Given the description of an element on the screen output the (x, y) to click on. 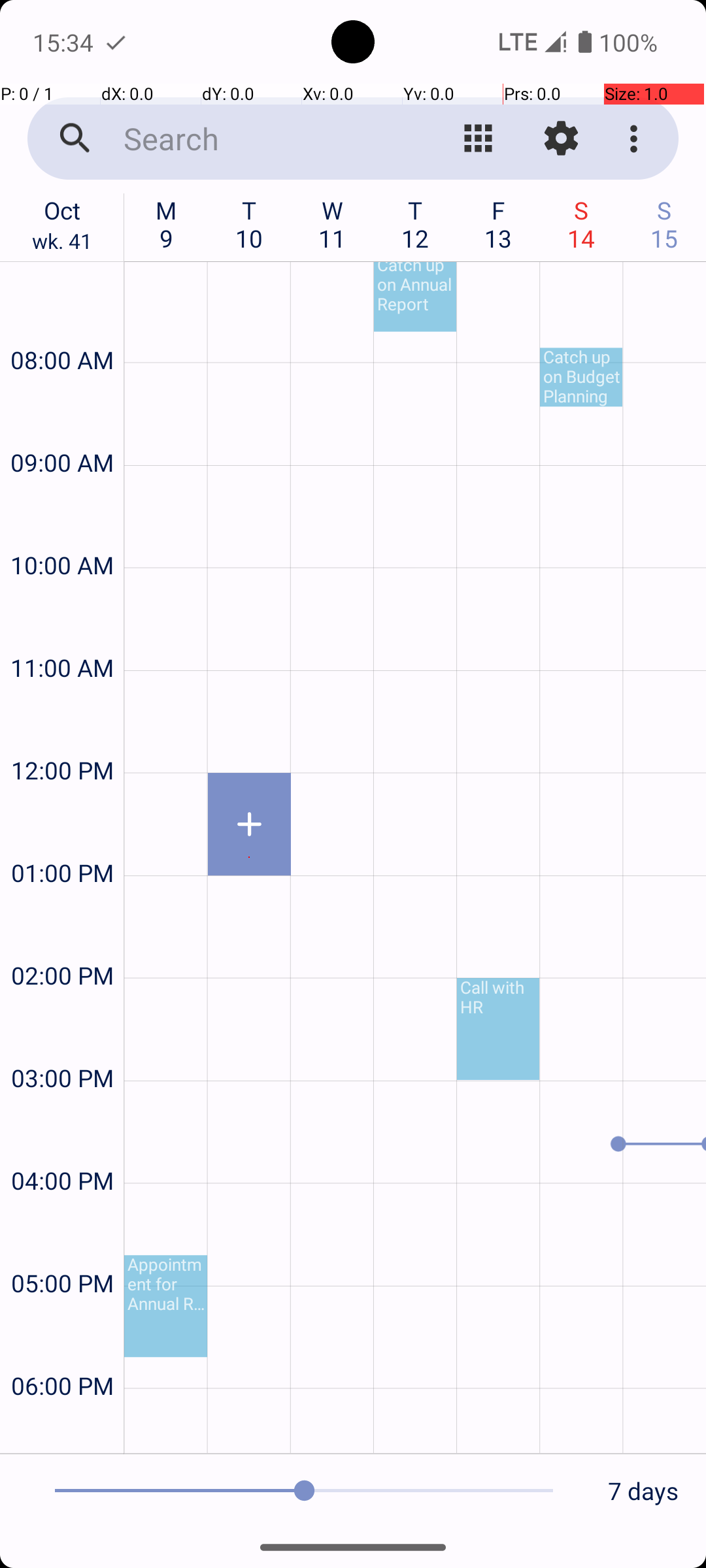
03:00 PM Element type: android.widget.TextView (62, 1042)
05:00 PM Element type: android.widget.TextView (62, 1247)
06:00 PM Element type: android.widget.TextView (62, 1350)
07:00 PM Element type: android.widget.TextView (62, 1428)
